Given the description of an element on the screen output the (x, y) to click on. 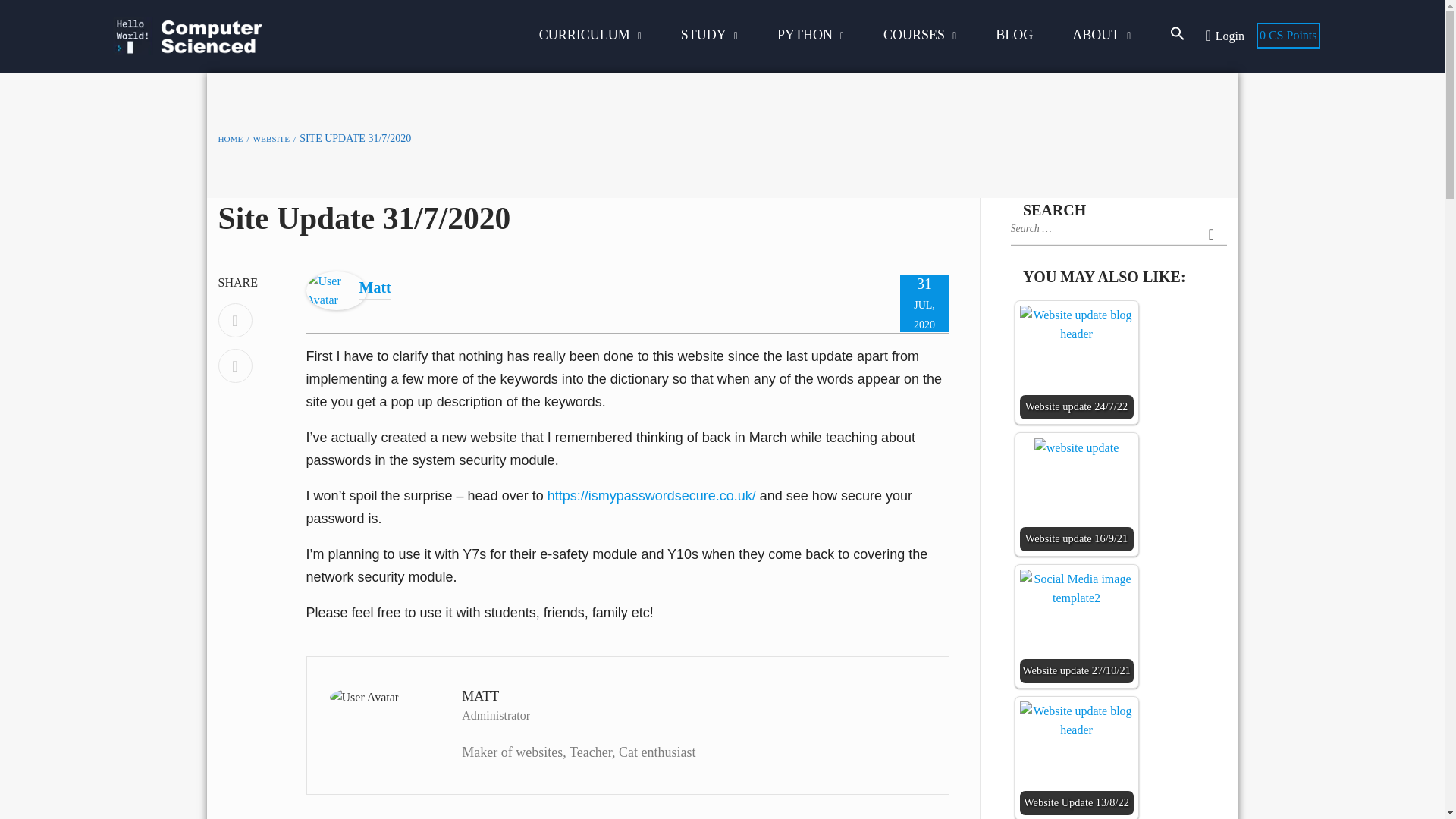
PYTHON (810, 34)
Login (1229, 35)
COURSES (919, 34)
BLOG (1014, 34)
Facebook (234, 320)
Matt (335, 288)
Search (1211, 234)
STUDY (708, 34)
Twitter (234, 365)
Search (1211, 234)
